Given the description of an element on the screen output the (x, y) to click on. 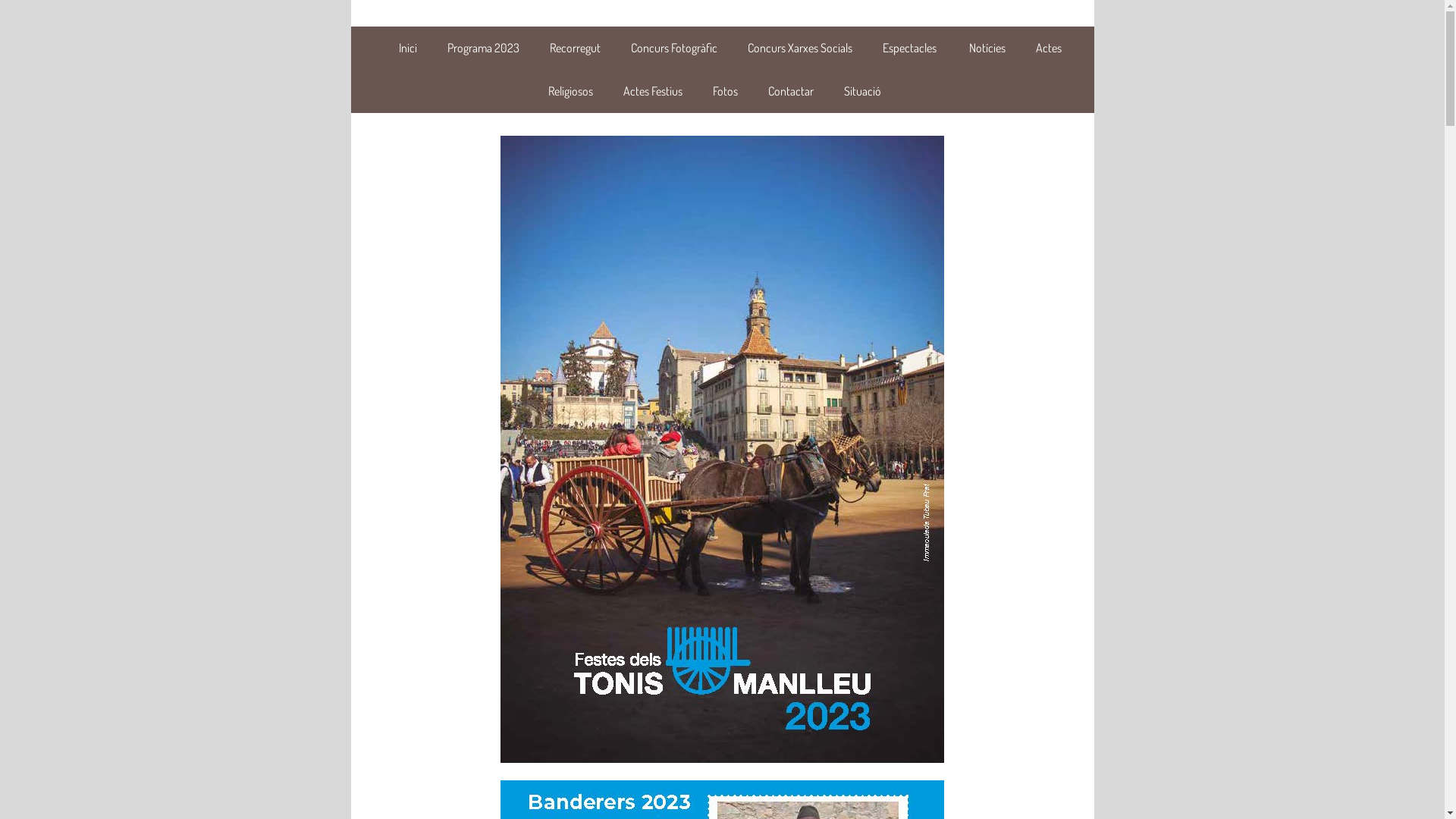
Programa 2023 Element type: text (483, 47)
Recorregut Element type: text (574, 47)
Concurs Xarxes Socials Element type: text (799, 47)
Espectacles Element type: text (910, 47)
Actes Religiosos Element type: text (804, 69)
Inici Element type: text (407, 47)
Contactar Element type: text (790, 90)
Fotos Element type: text (724, 90)
Actes Festius Element type: text (652, 90)
